Given the description of an element on the screen output the (x, y) to click on. 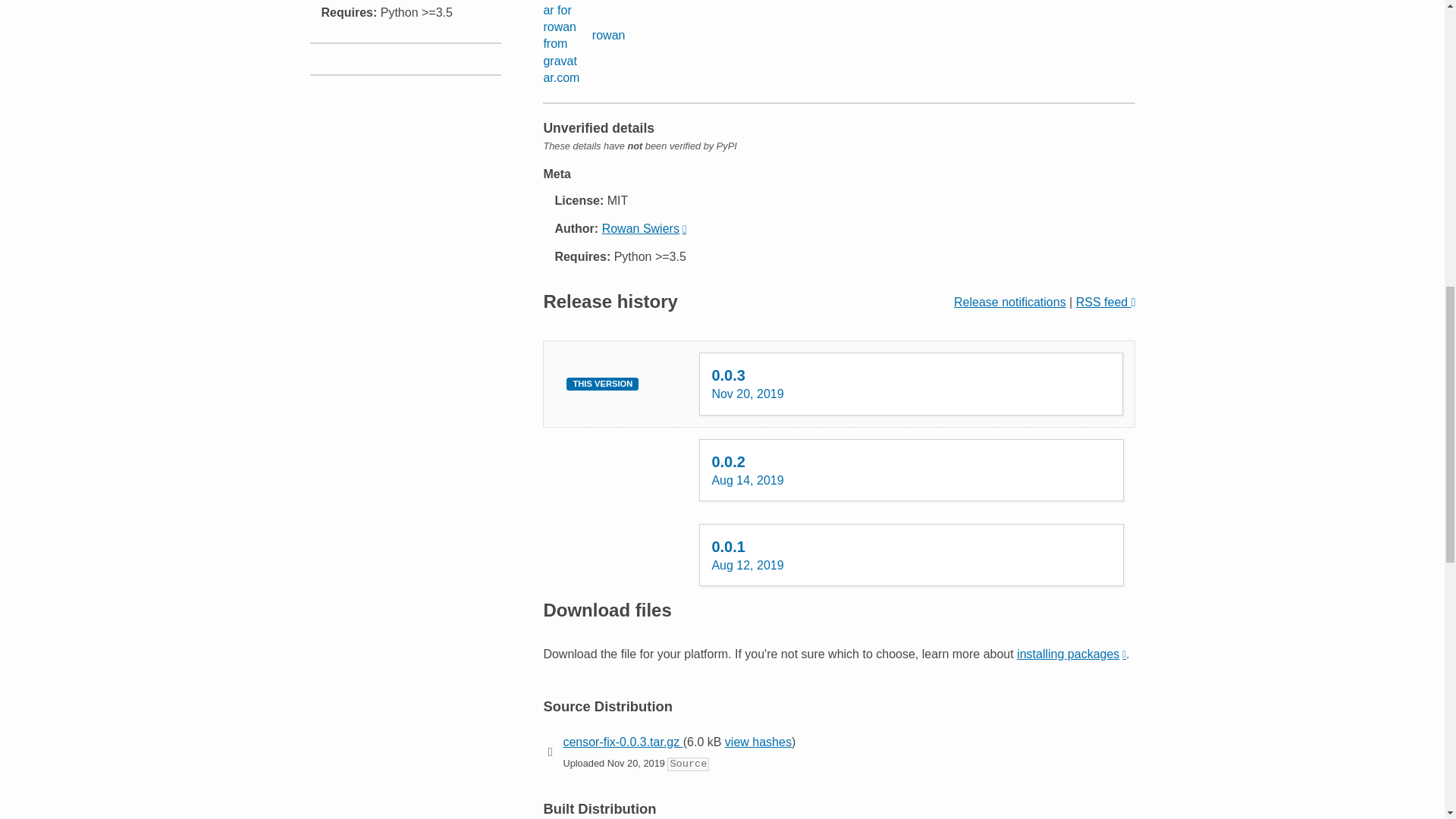
installing packages (911, 469)
rowan (1070, 653)
External link (583, 43)
RSS feed (1070, 653)
Release notifications (1105, 301)
censor-fix-0.0.3.tar.gz (911, 555)
view hashes (1009, 301)
